Given the description of an element on the screen output the (x, y) to click on. 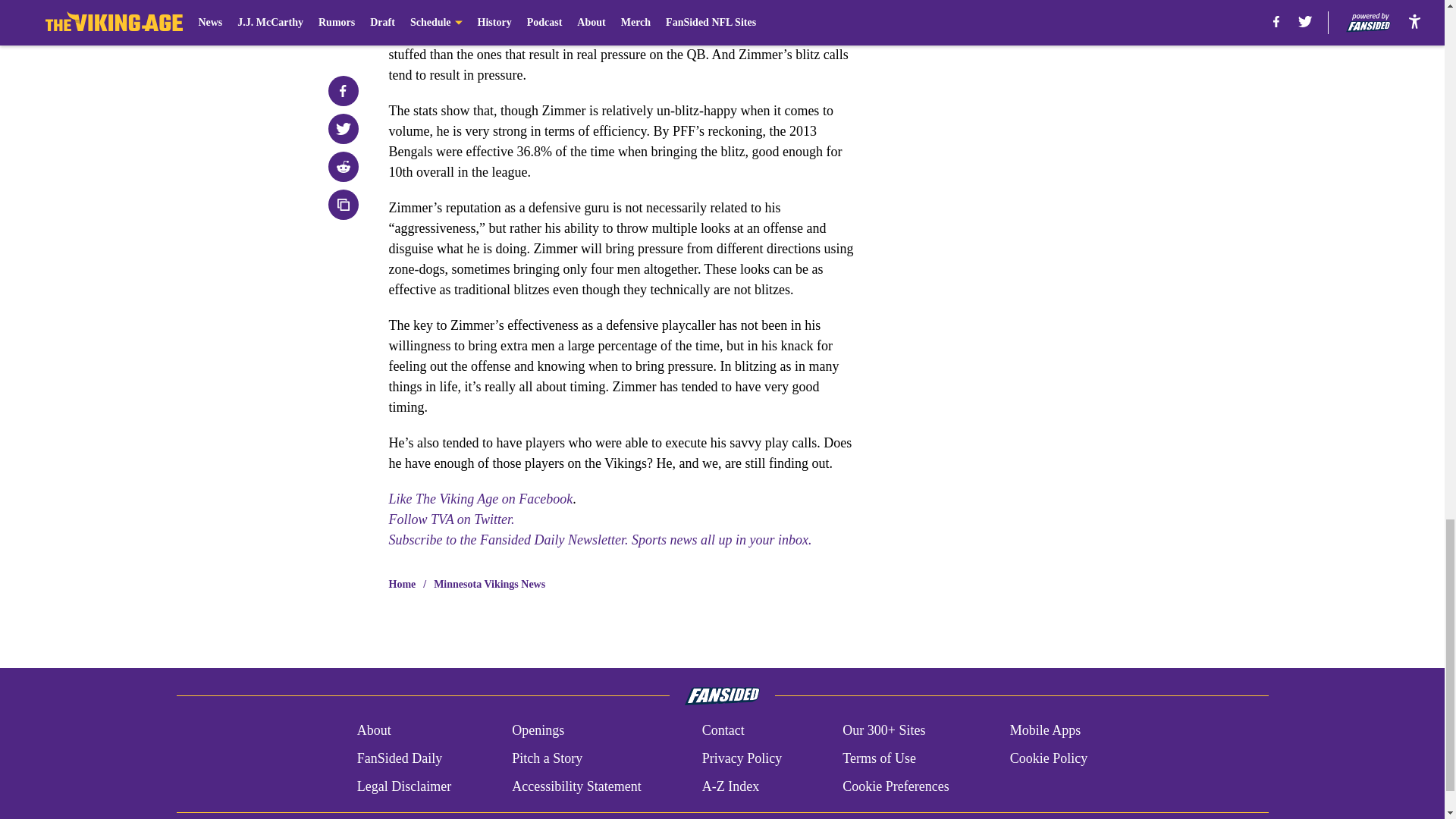
About (373, 730)
Openings (538, 730)
Follow TVA on Twitter. (450, 519)
Home (401, 584)
Contact (722, 730)
Minnesota Vikings News (488, 584)
Like The Viking Age on Facebook (480, 498)
